Given the description of an element on the screen output the (x, y) to click on. 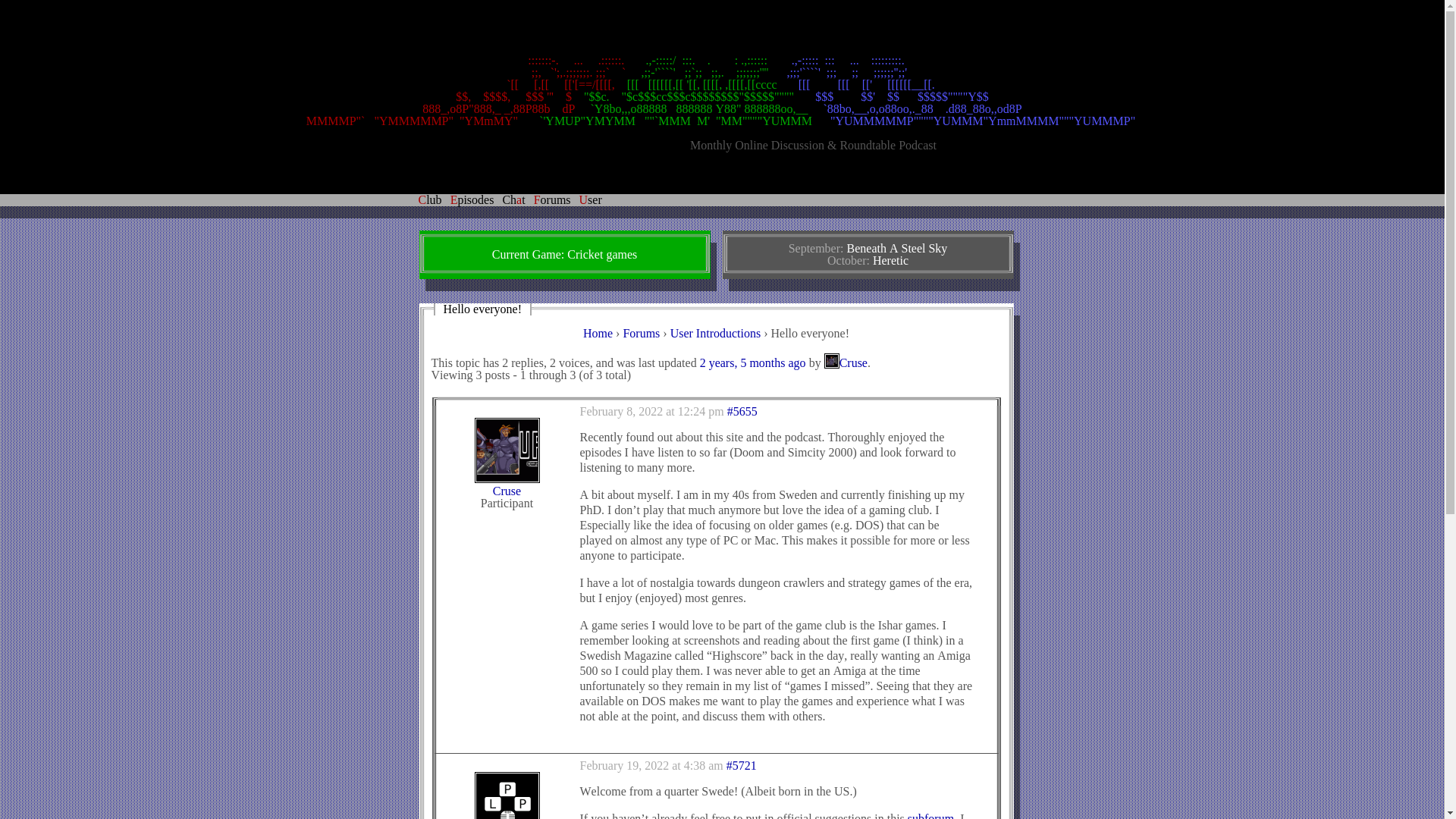
Reply To: Hello everyone! (753, 362)
2 years, 5 months ago (753, 362)
User Introductions (715, 332)
Beneath A Steel Sky (896, 247)
Forums (641, 332)
Home (597, 332)
View Cruse's profile (845, 362)
Cricket games (602, 254)
Cruse (845, 362)
View Cruse's profile (507, 484)
